Given the description of an element on the screen output the (x, y) to click on. 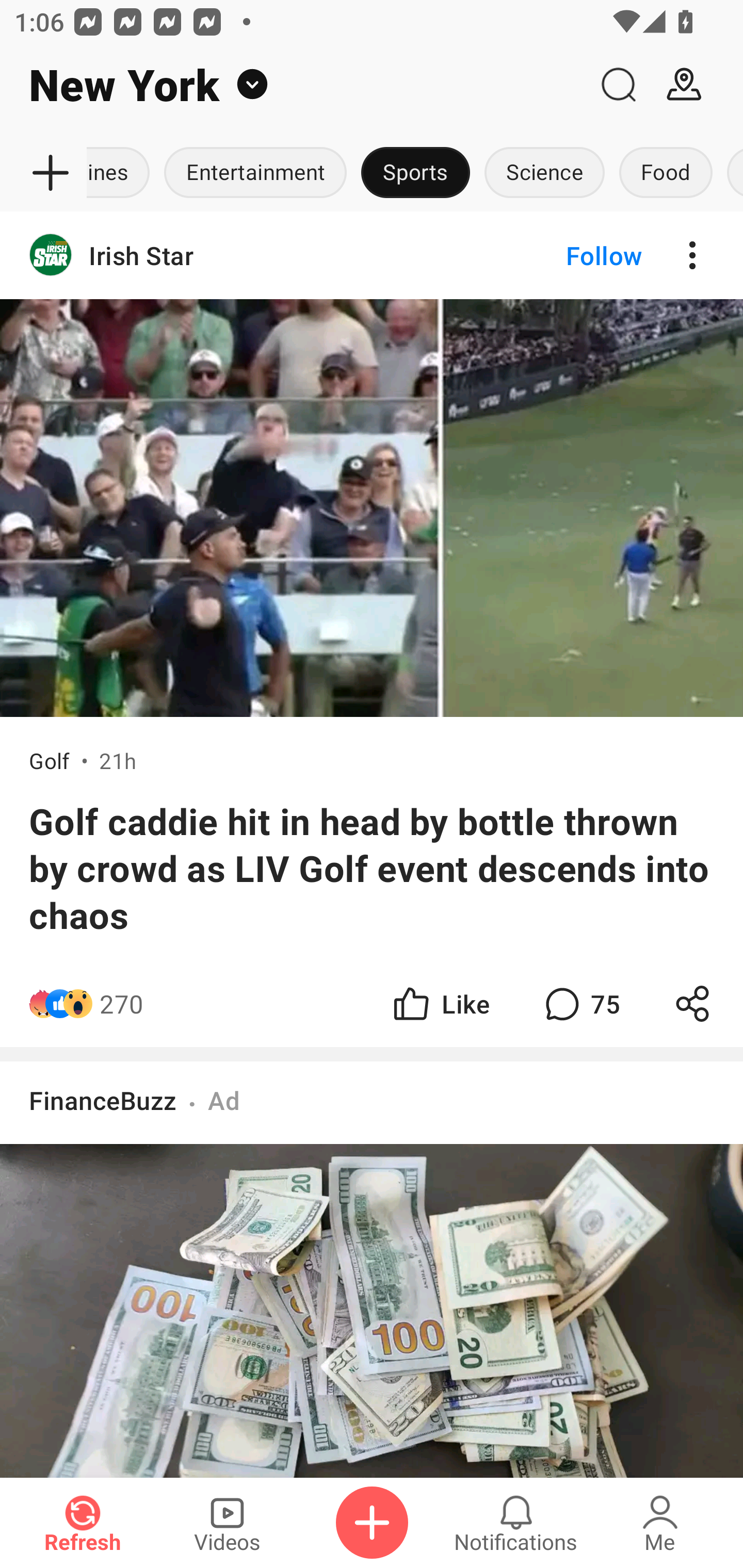
New York (292, 84)
Headlines (121, 172)
Entertainment (254, 172)
Sports (415, 172)
Science (544, 172)
Food (665, 172)
Irish Star Follow (371, 255)
Follow (569, 255)
270 (121, 1003)
Like (439, 1003)
75 (579, 1003)
FinanceBuzz (102, 1099)
Videos (227, 1522)
Notifications (516, 1522)
Me (659, 1522)
